Given the description of an element on the screen output the (x, y) to click on. 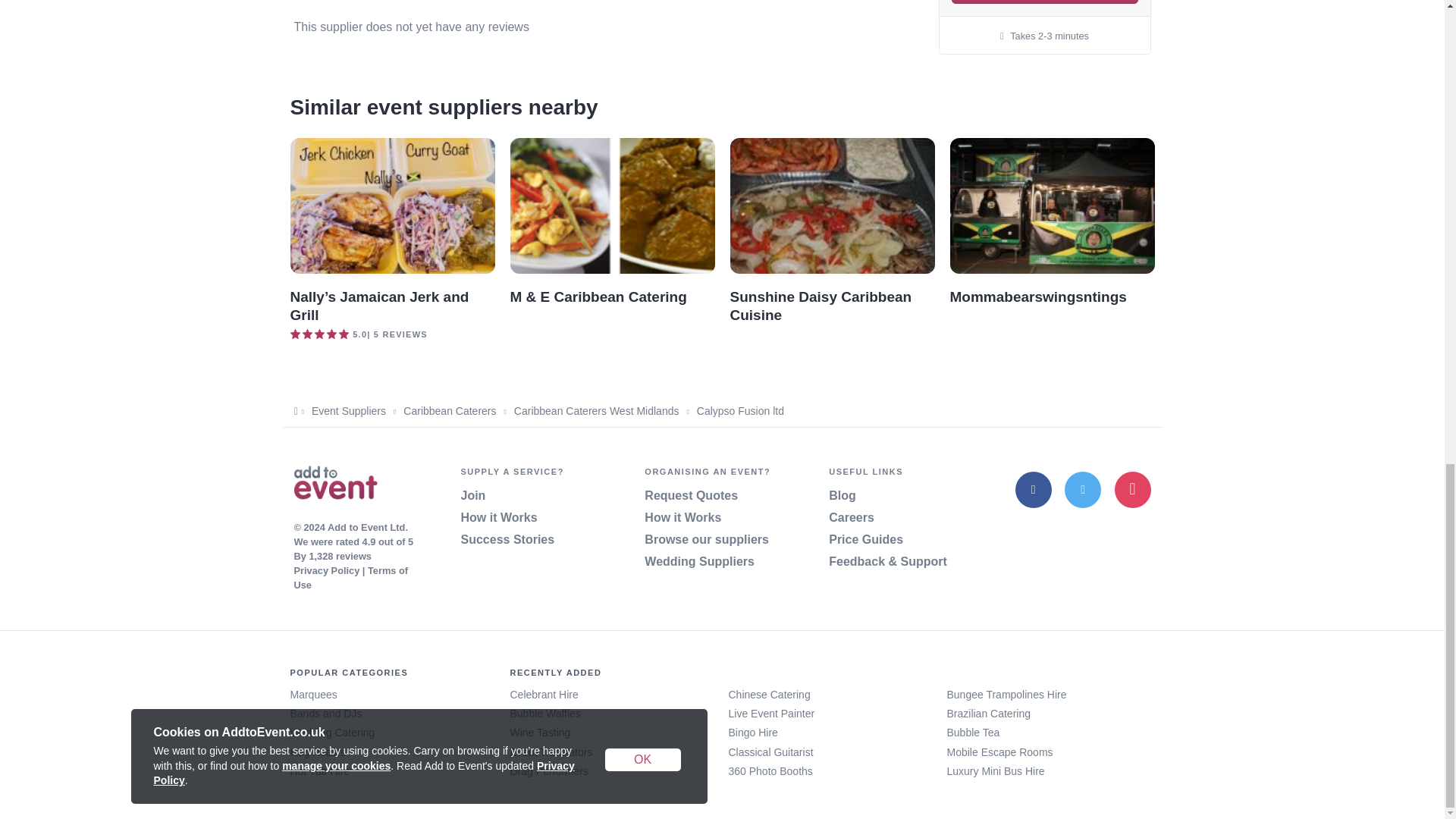
Home (335, 485)
